Given the description of an element on the screen output the (x, y) to click on. 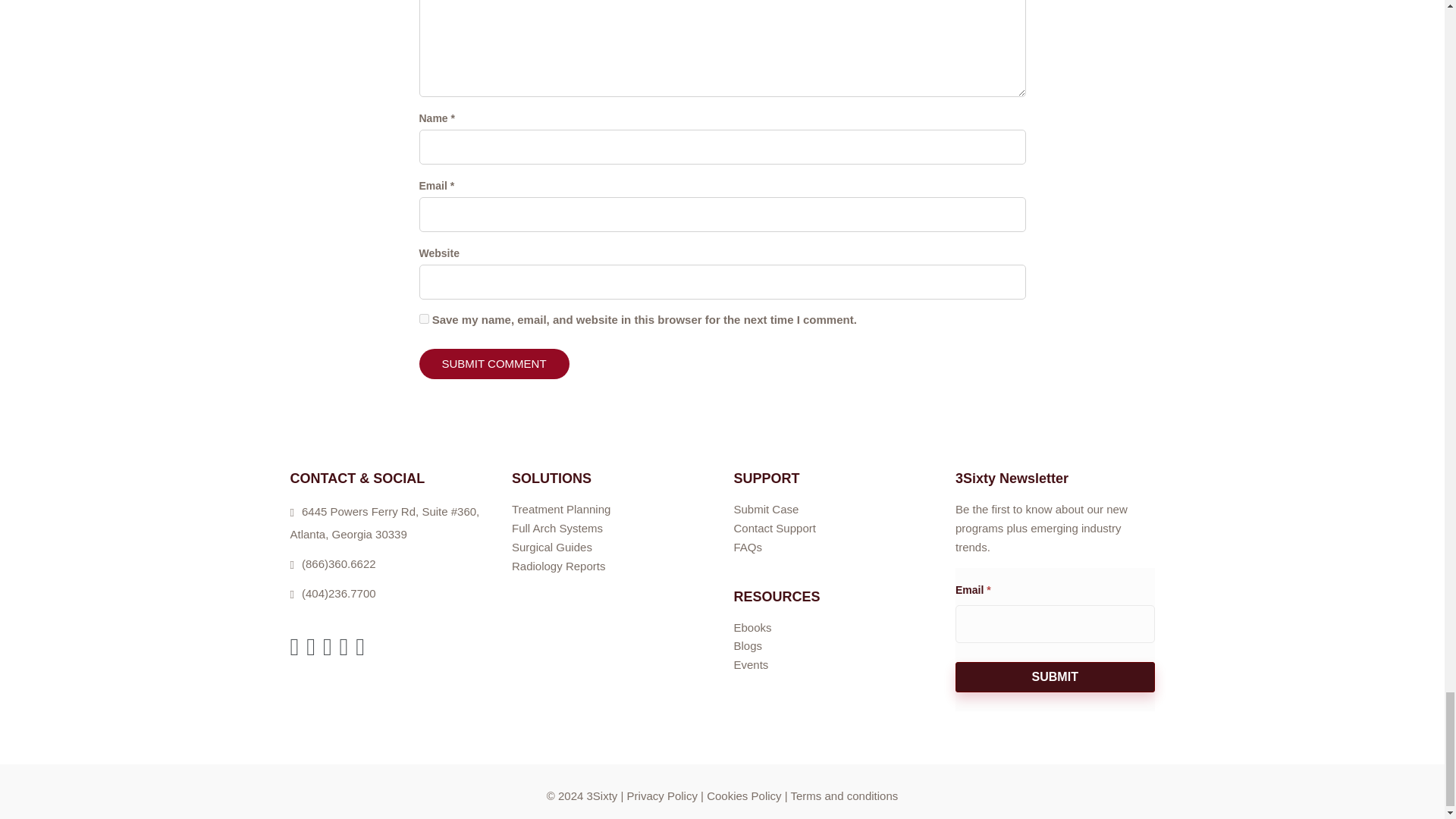
yes (423, 318)
Surgical Guides (552, 546)
Full Arch Systems (557, 527)
Treatment Planning (561, 508)
Submit Comment (494, 364)
Submit Comment (494, 364)
